Given the description of an element on the screen output the (x, y) to click on. 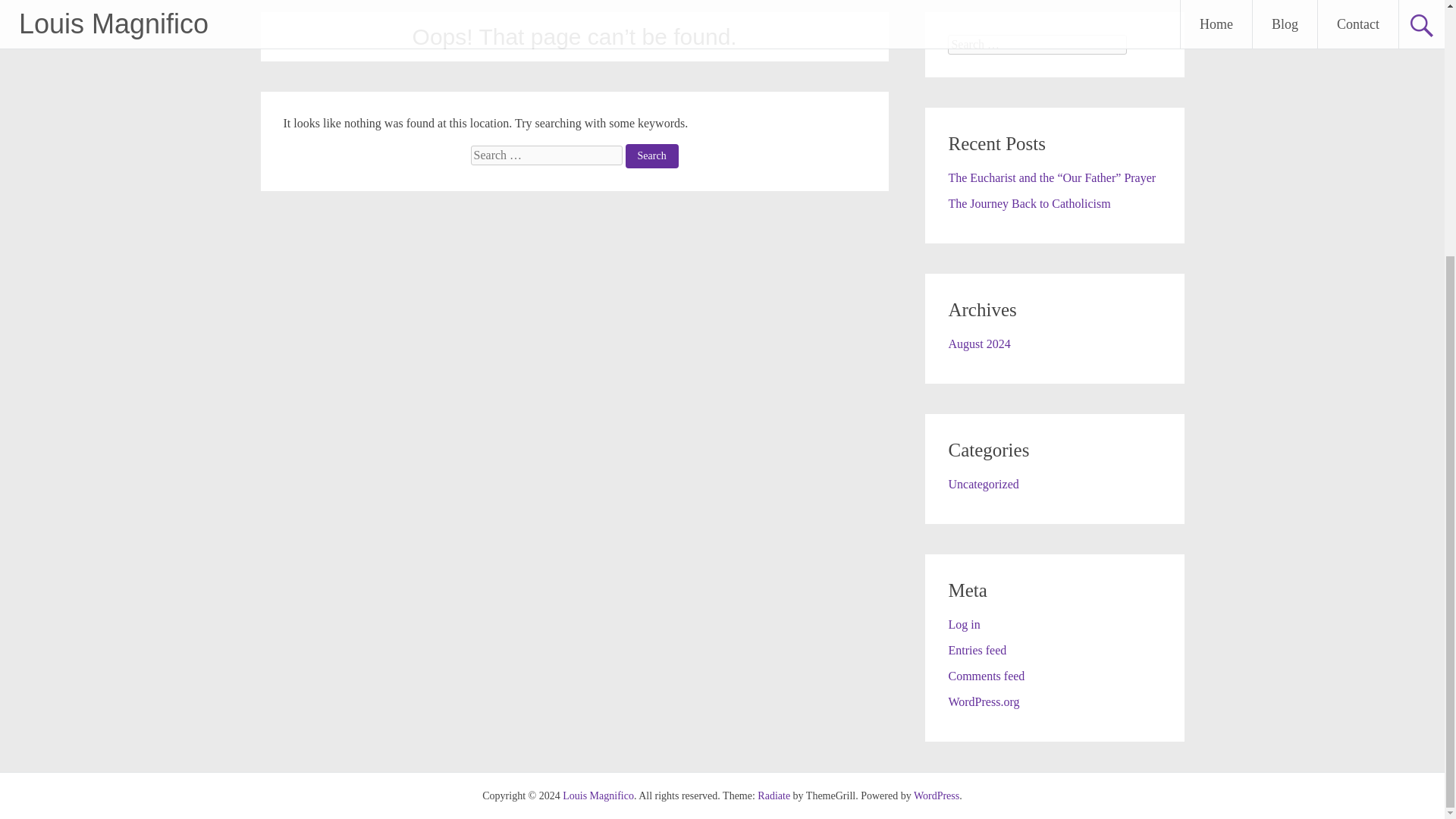
August 2024 (978, 343)
Search (652, 156)
Radiate (773, 795)
Louis Magnifico (597, 795)
The Journey Back to Catholicism (1028, 203)
WordPress (936, 795)
Entries feed (976, 649)
Search (652, 156)
Louis Magnifico (597, 795)
WordPress.org (983, 701)
